Given the description of an element on the screen output the (x, y) to click on. 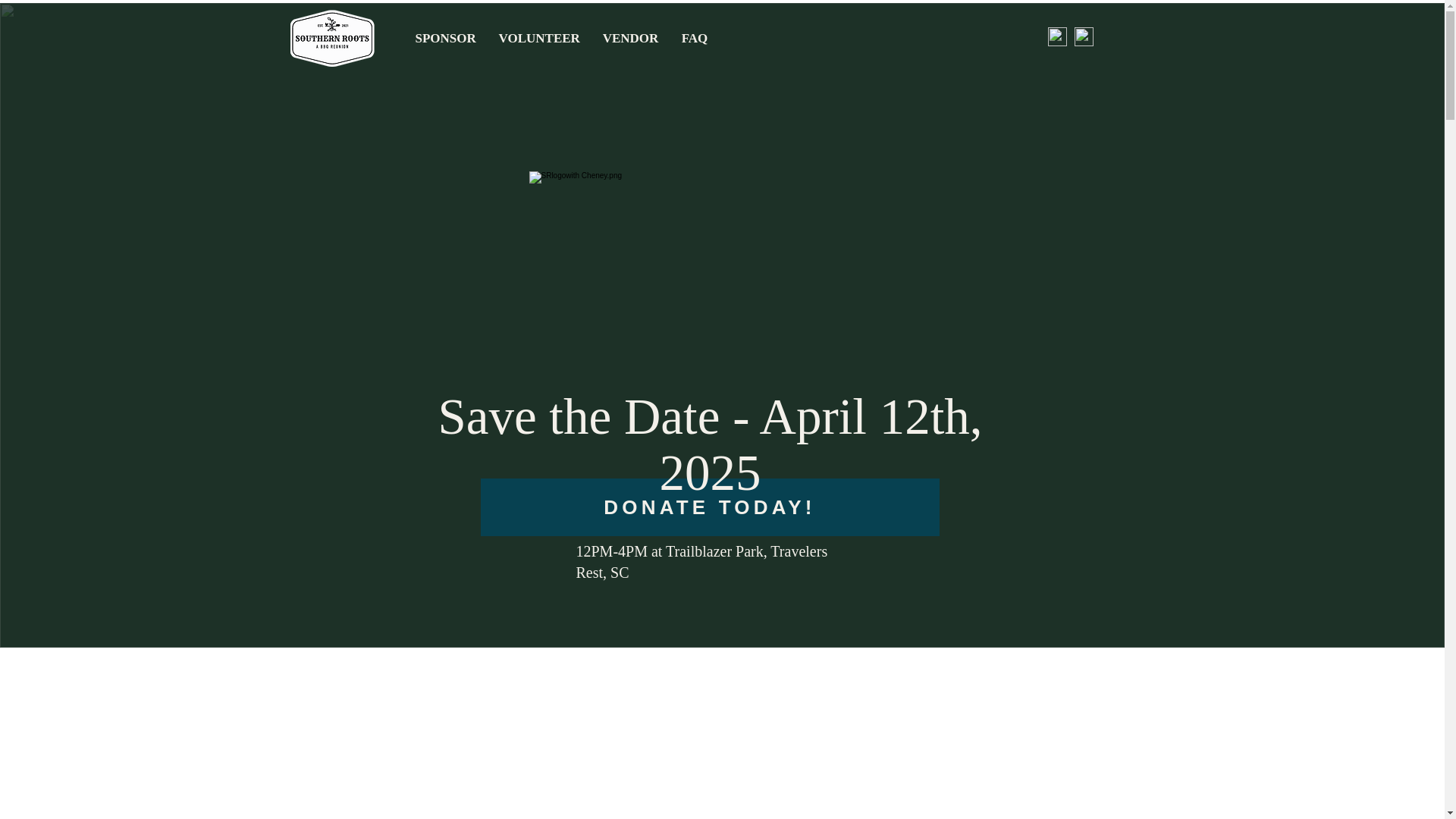
FAQ (694, 38)
VENDOR (630, 38)
SPONSOR (444, 38)
VOLUNTEER (538, 38)
DONATE TODAY! (709, 507)
